Given the description of an element on the screen output the (x, y) to click on. 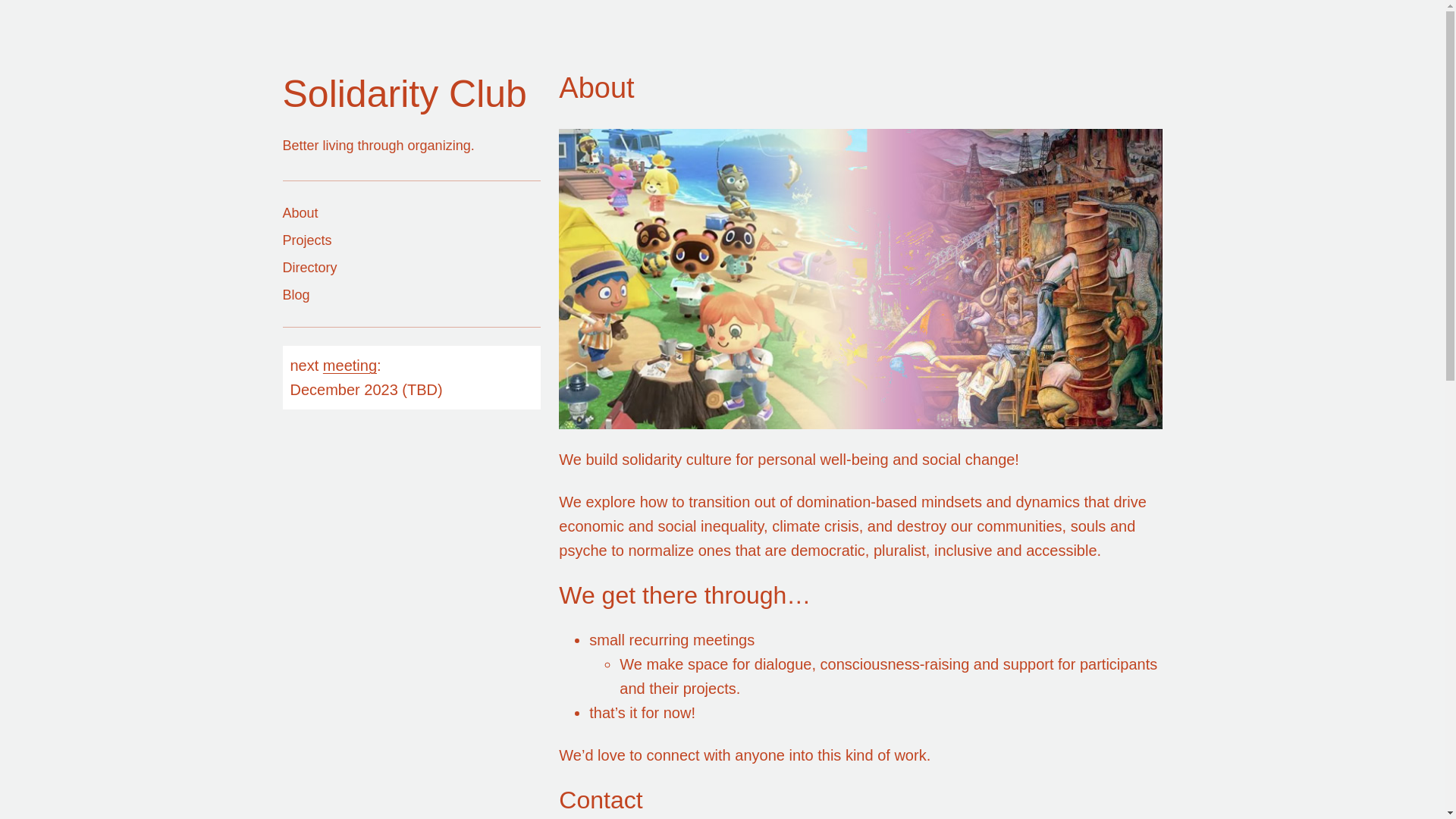
Projects (306, 239)
About (299, 212)
meeting (350, 365)
Directory (309, 267)
Solidarity Club (403, 93)
Blog (295, 294)
